Given the description of an element on the screen output the (x, y) to click on. 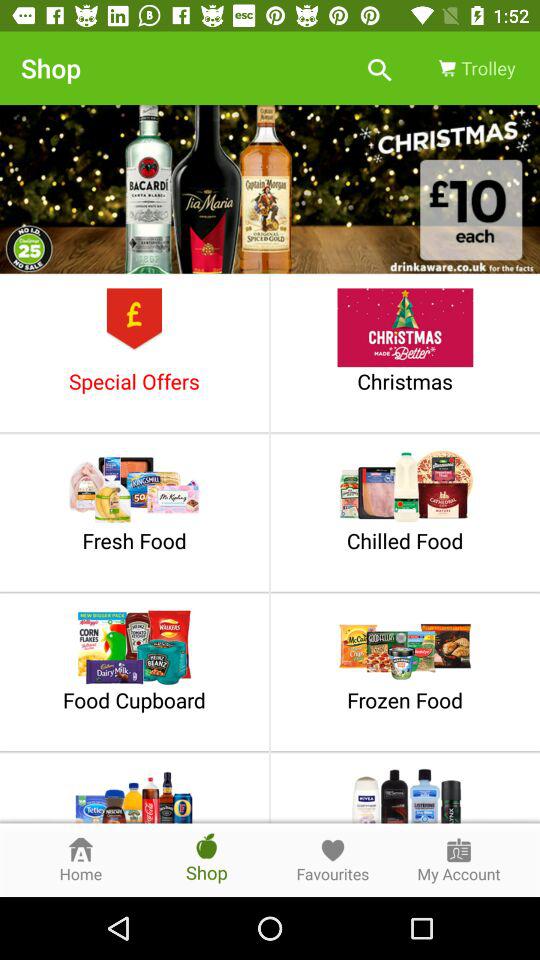
choose trolley icon (475, 68)
